Given the description of an element on the screen output the (x, y) to click on. 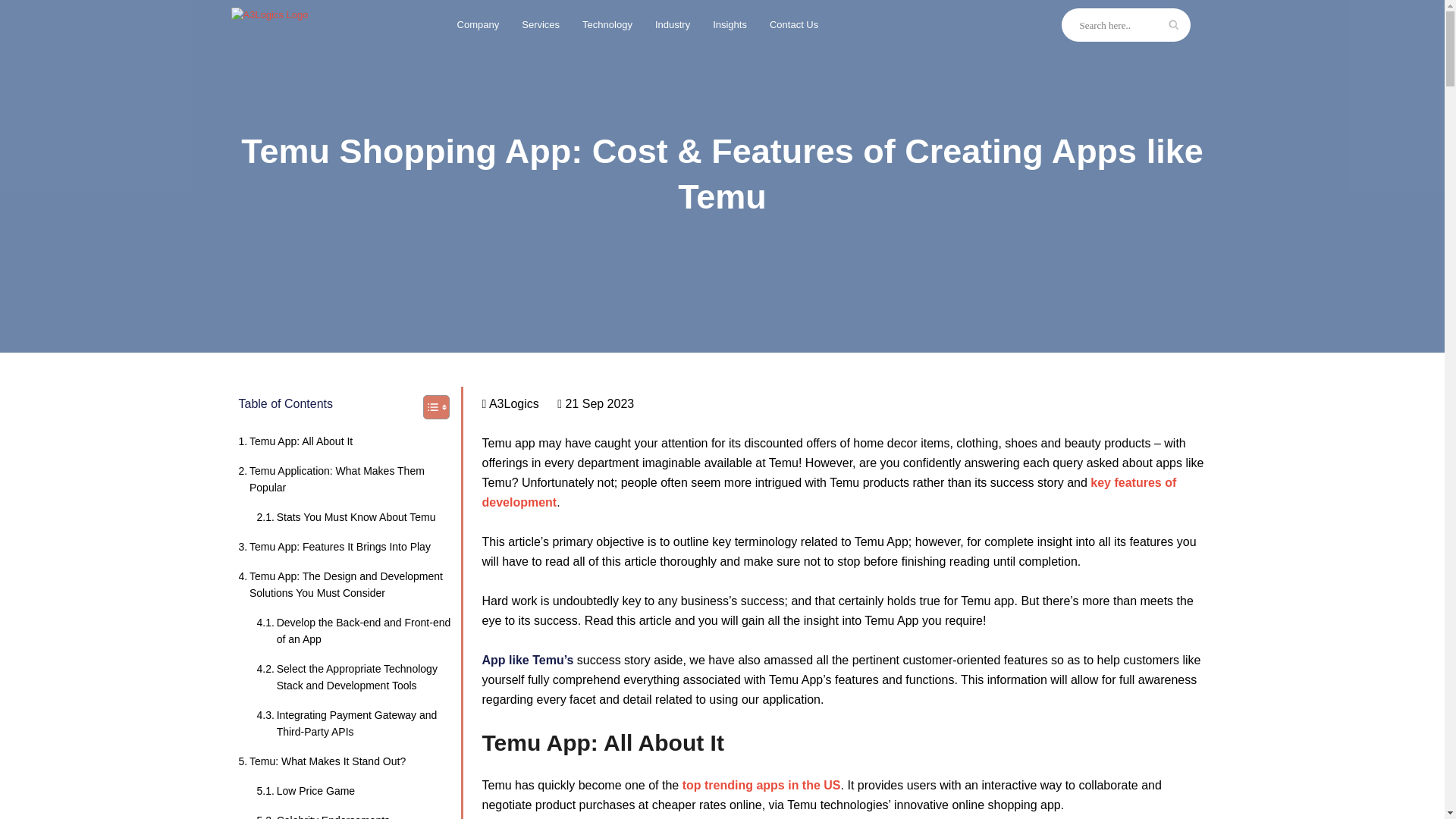
Temu App: All About It (295, 441)
Temu App: Features It Brings Into Play (323, 815)
Stats You Must Know About Temu (333, 546)
Temu Application: What Makes Them Popular (345, 516)
